Given the description of an element on the screen output the (x, y) to click on. 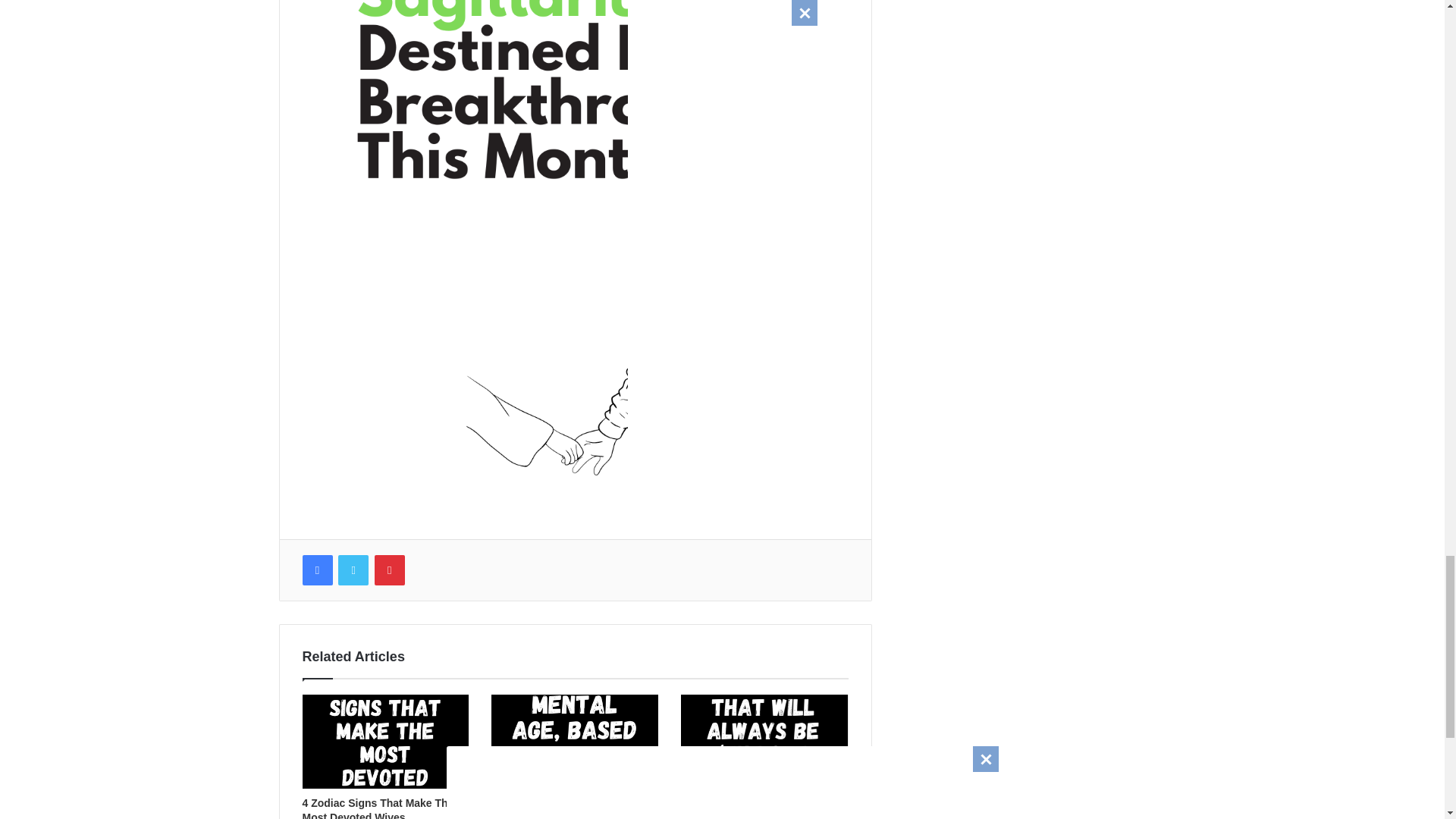
Pinterest (389, 570)
Twitter (352, 570)
Your Mental Age, Based On Your Zodiac Sign (574, 807)
4 Zodiac Signs That Make The Most Devoted Wives (376, 807)
Facebook (316, 570)
